Given the description of an element on the screen output the (x, y) to click on. 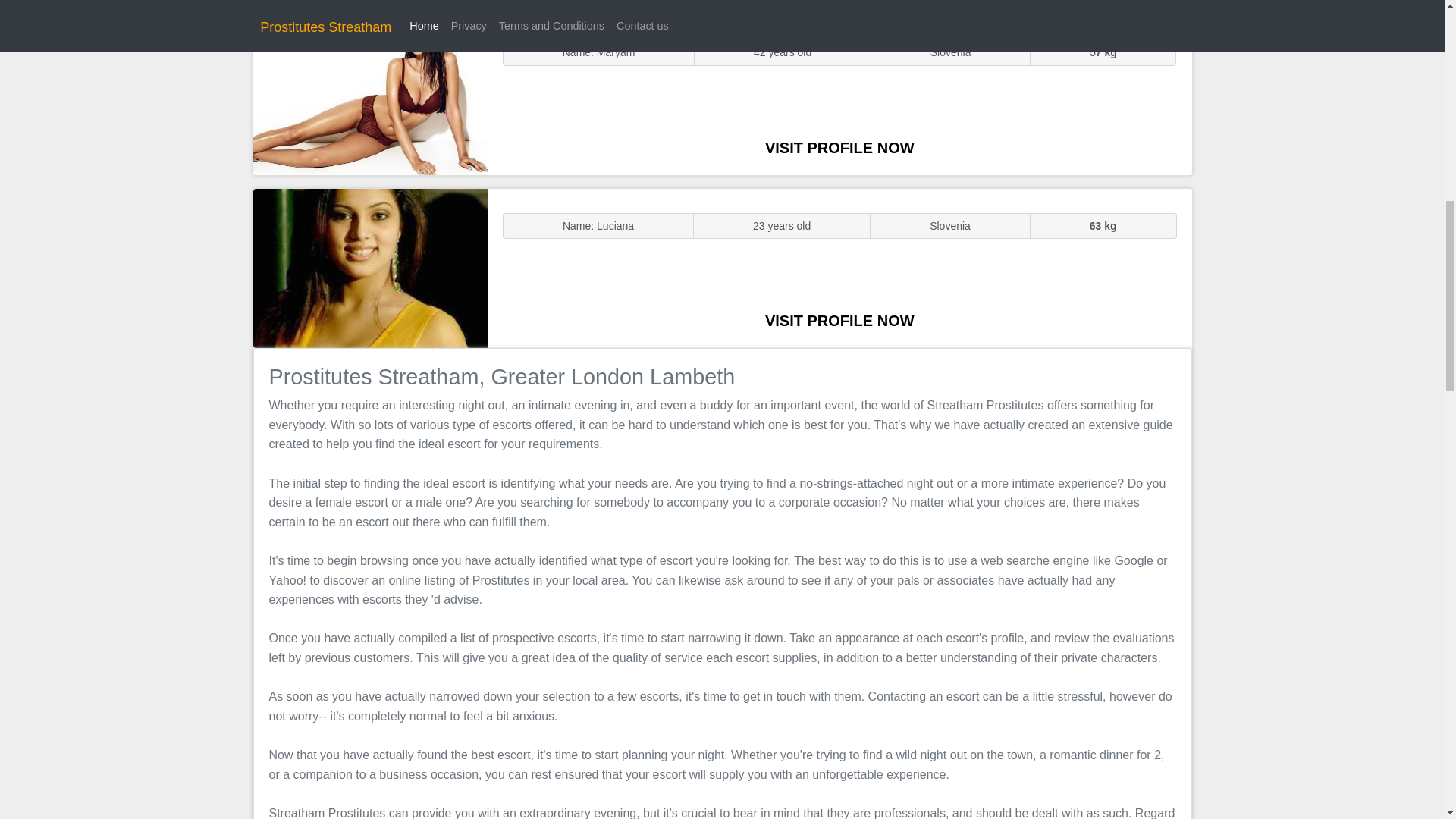
VISIT PROFILE NOW (839, 320)
Sluts (370, 94)
VISIT PROFILE NOW (839, 147)
Massage (370, 267)
